Given the description of an element on the screen output the (x, y) to click on. 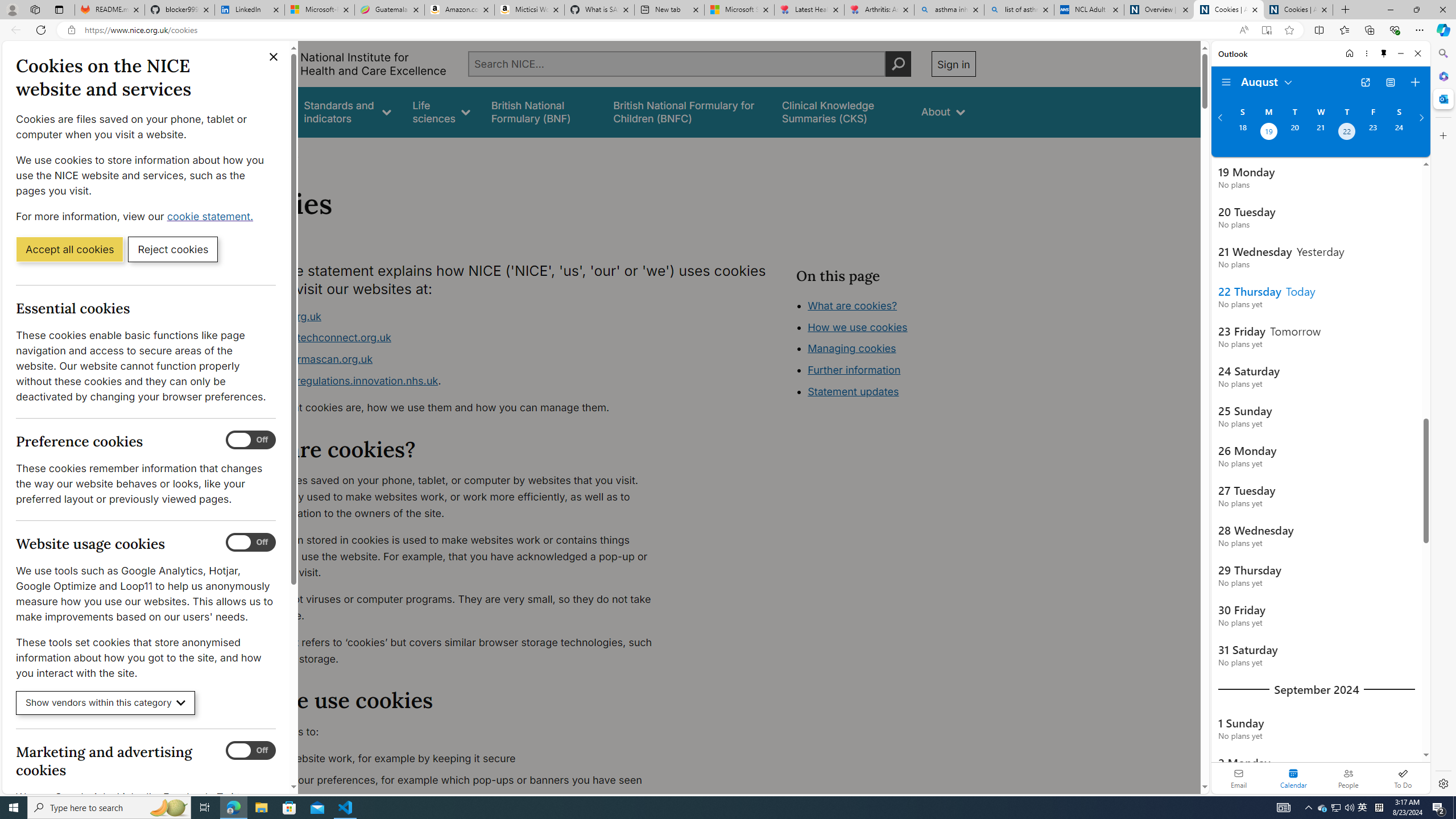
Perform search (898, 63)
August (1267, 80)
Thursday, August 22, 2024. Today.  (1346, 132)
Managing cookies (852, 348)
